Given the description of an element on the screen output the (x, y) to click on. 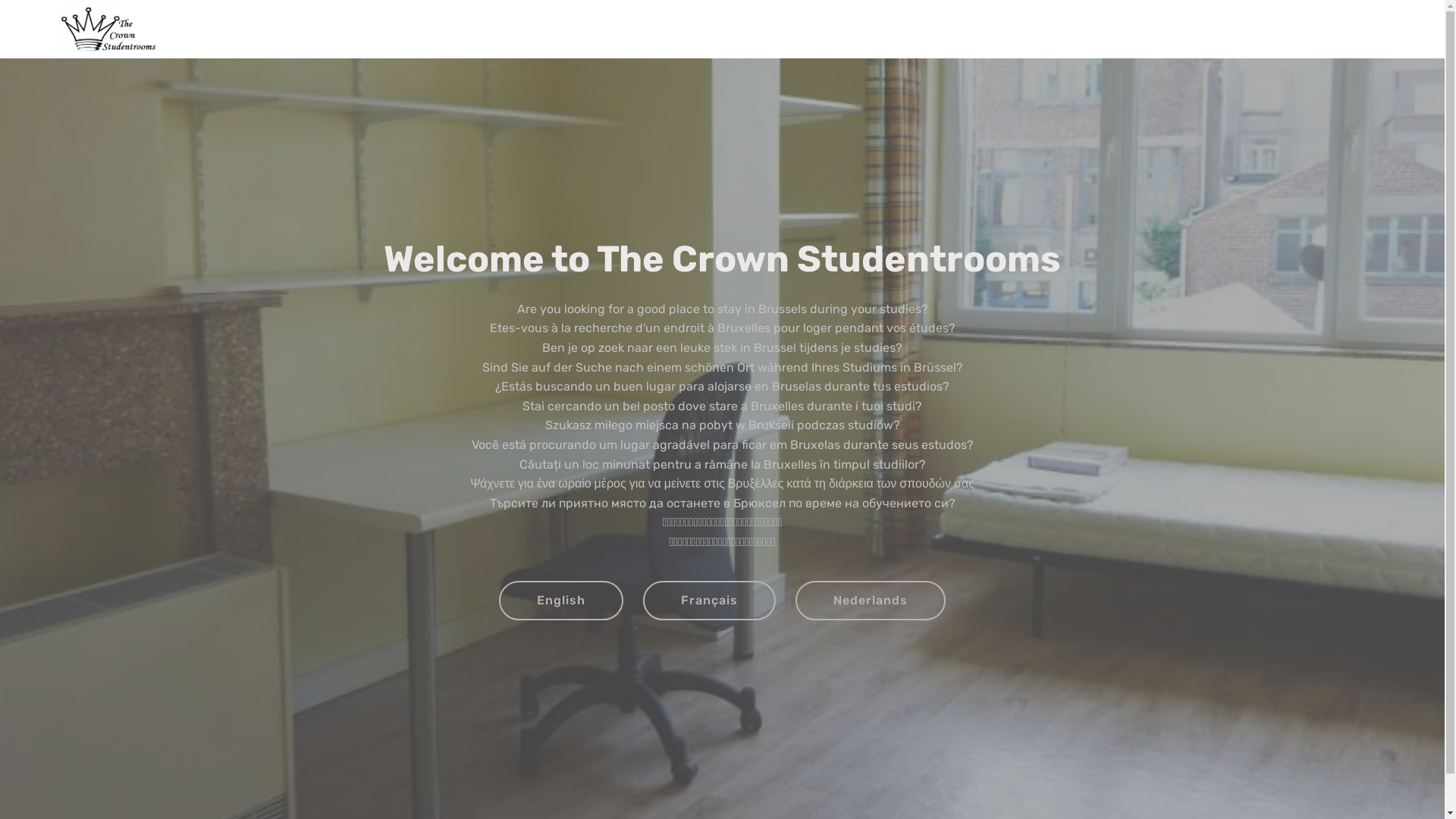
Nederlands Element type: text (870, 600)
English Element type: text (560, 600)
